Given the description of an element on the screen output the (x, y) to click on. 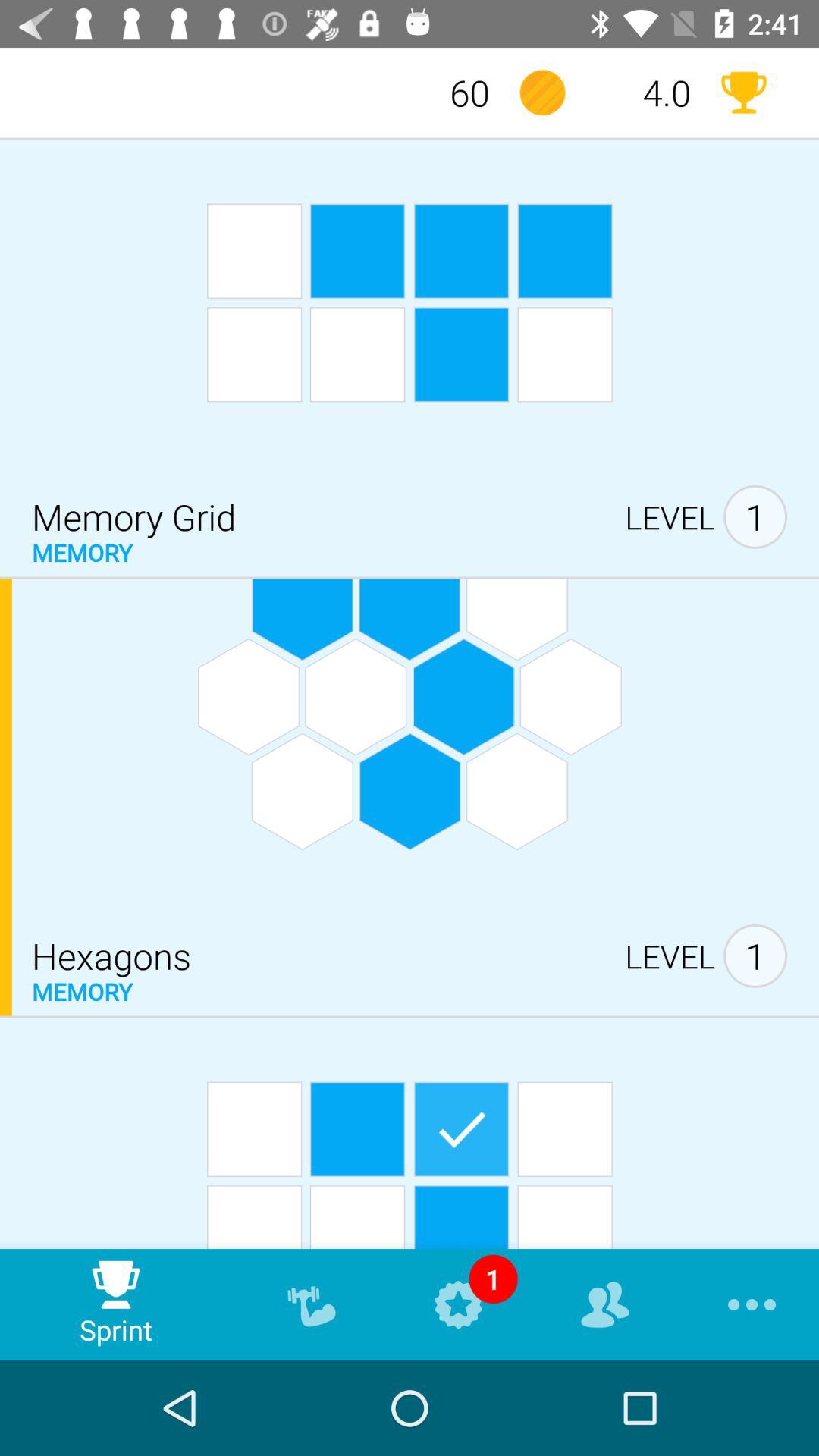
turn on 60 icon (441, 92)
